Given the description of an element on the screen output the (x, y) to click on. 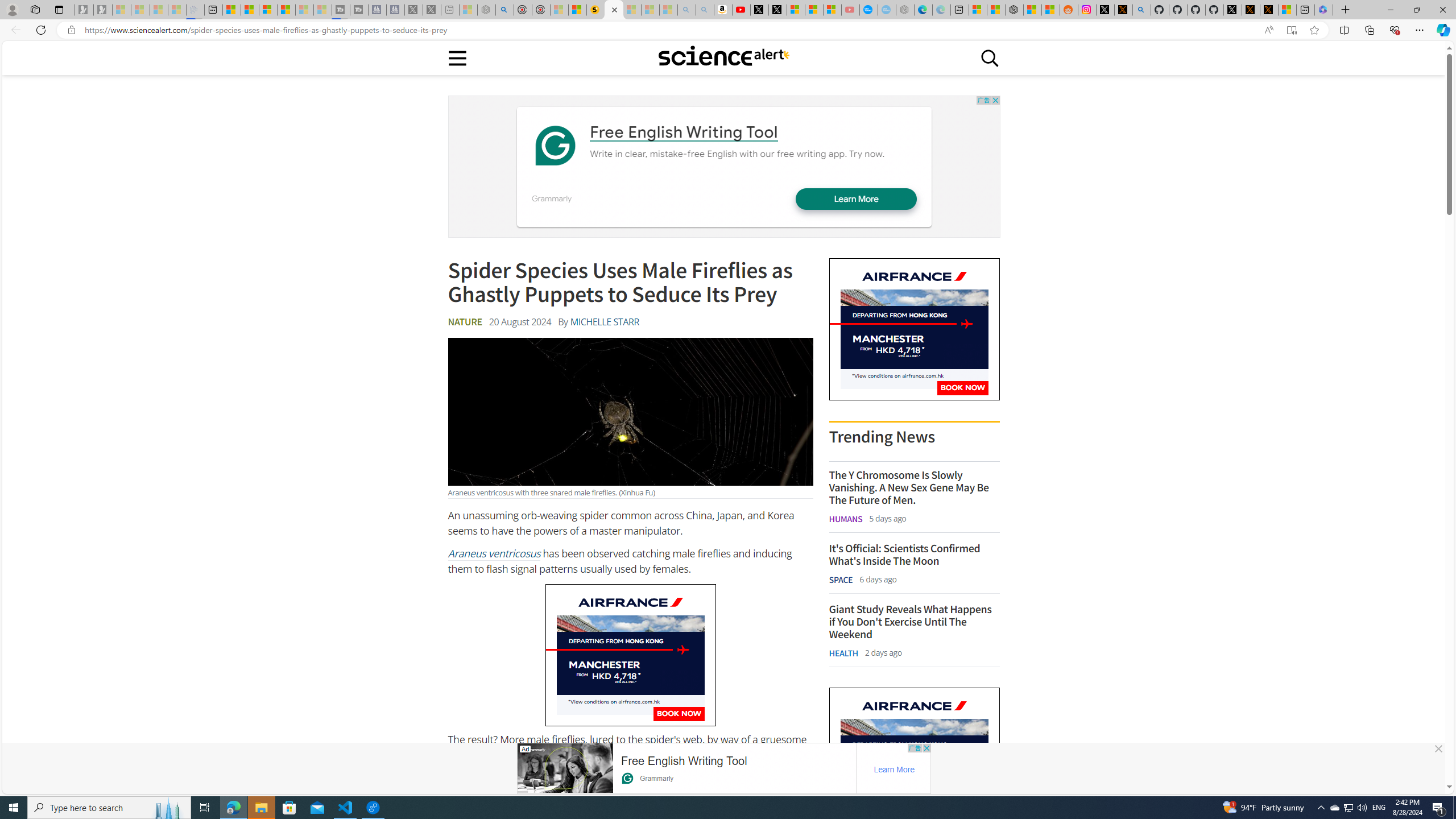
HEALTH (842, 653)
Gloom - YouTube - Sleeping (850, 9)
